Given the description of an element on the screen output the (x, y) to click on. 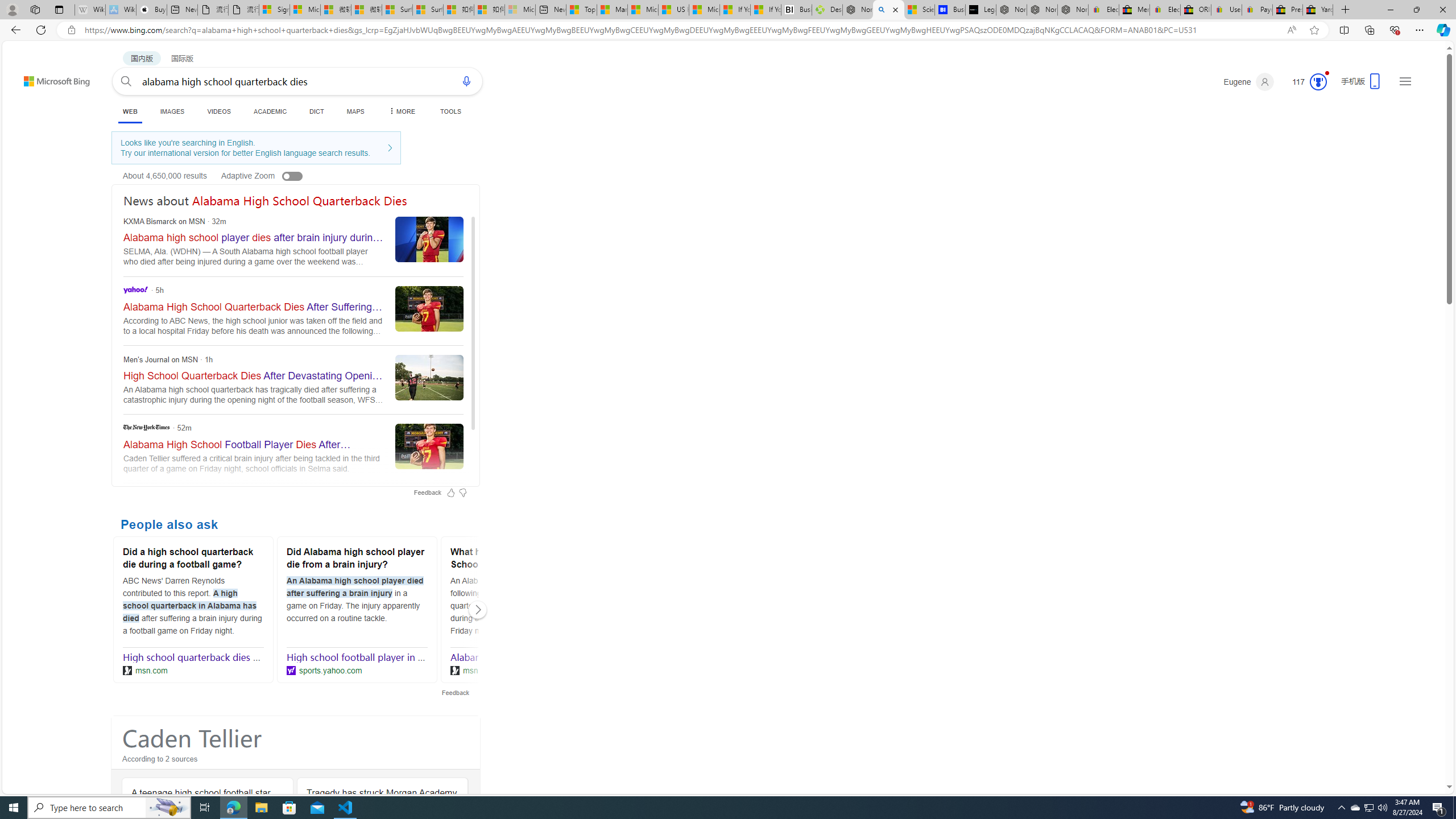
Feedback Dislike (462, 492)
